Given the description of an element on the screen output the (x, y) to click on. 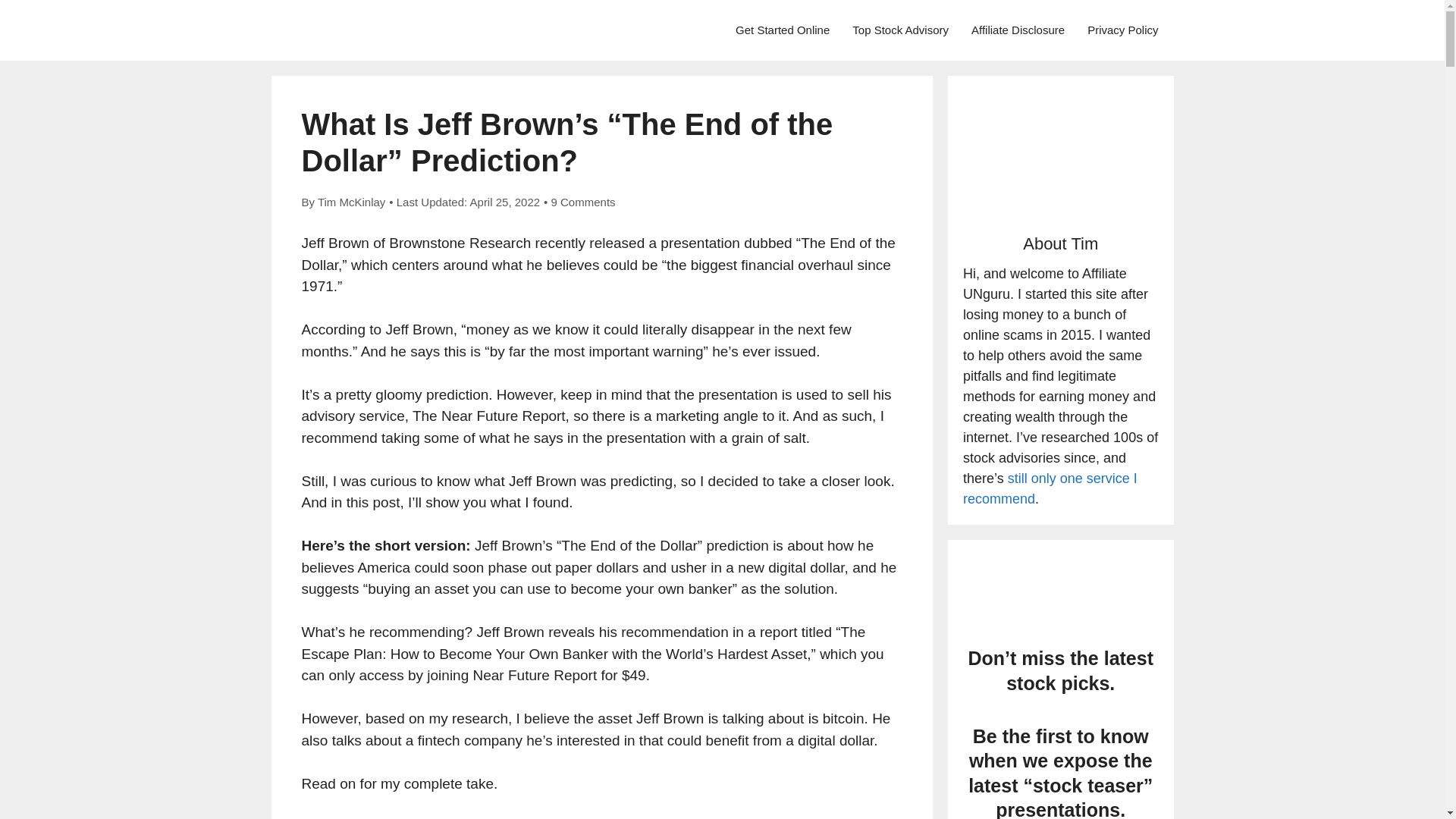
Tim McKinlay (351, 201)
Get Started Online (782, 30)
9 Comments (583, 201)
Start Here (782, 30)
Top Stock Advisory (900, 30)
Privacy Policy (1122, 30)
Affiliate Disclosure (1017, 30)
